Given the description of an element on the screen output the (x, y) to click on. 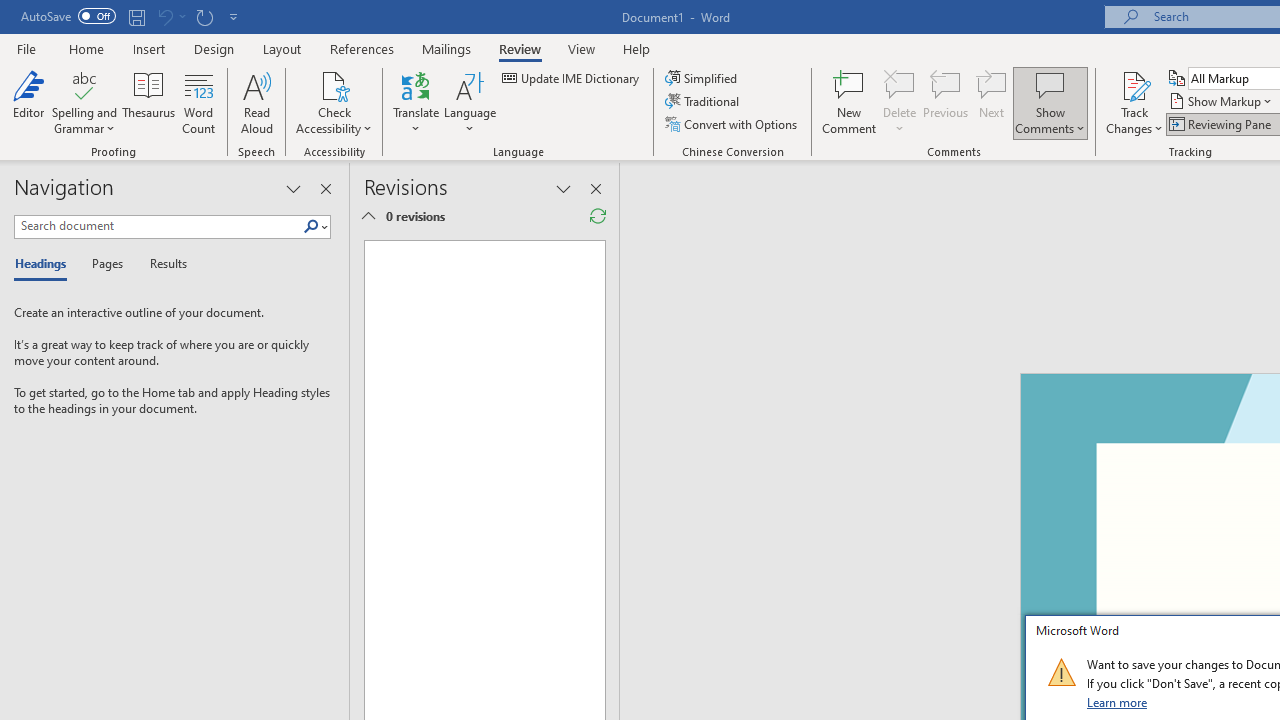
Check Accessibility (334, 102)
Show Detailed Summary (368, 215)
Thesaurus... (148, 102)
Read Aloud (256, 102)
Show Comments (1050, 102)
Show Comments (1050, 84)
Reviewing Pane (1221, 124)
Traditional (703, 101)
